Given the description of an element on the screen output the (x, y) to click on. 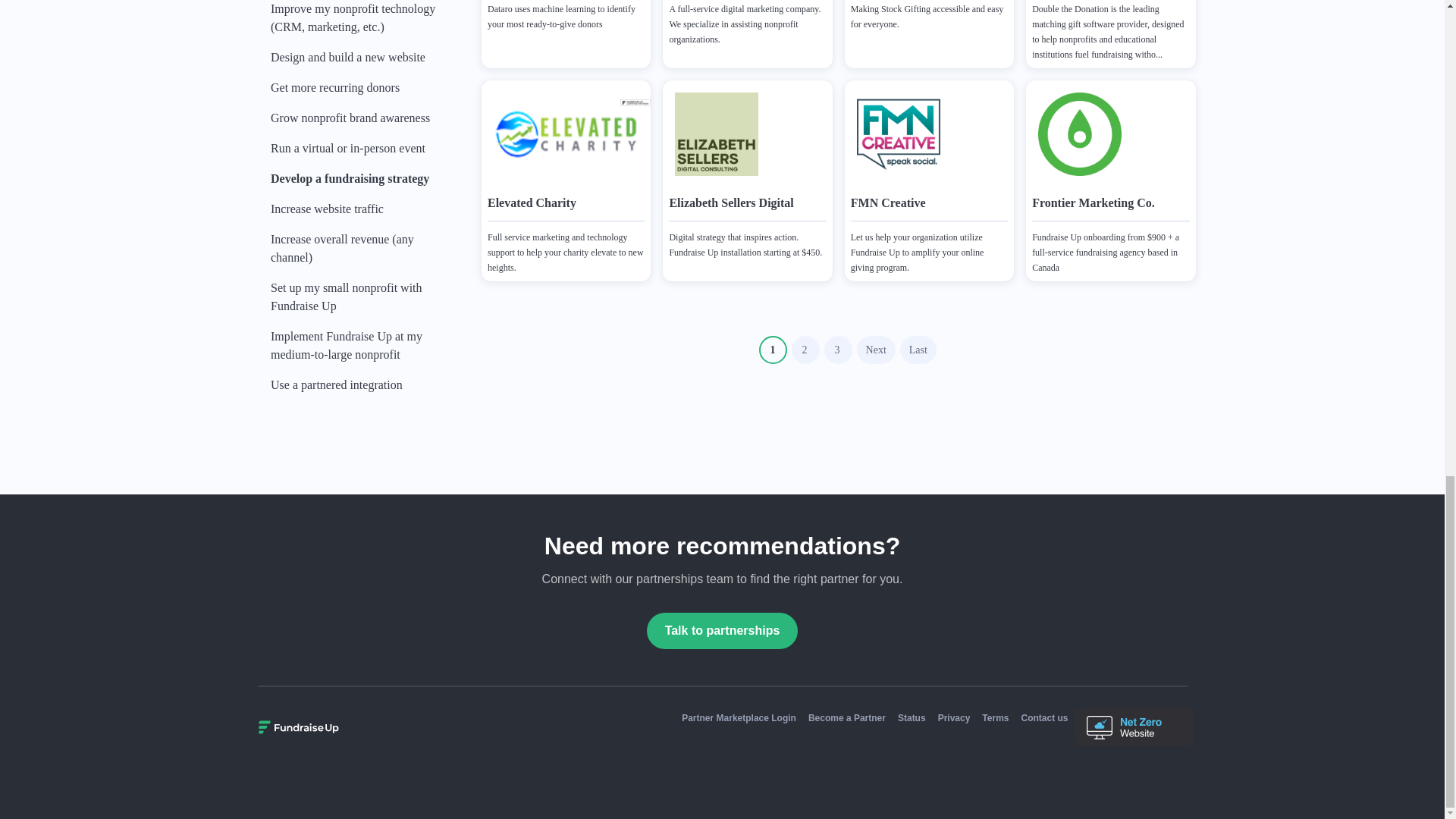
Increase website traffic (359, 213)
Implement Fundraise Up at my medium-to-large nonprofit (359, 350)
Set up my small nonprofit with Fundraise Up (359, 301)
Design and build a new website (359, 62)
Get more recurring donors (359, 92)
Develop a fundraising strategy (359, 183)
Use a partnered integration (359, 389)
Grow nonprofit brand awareness (359, 122)
Run a virtual or in-person event (359, 153)
